Given the description of an element on the screen output the (x, y) to click on. 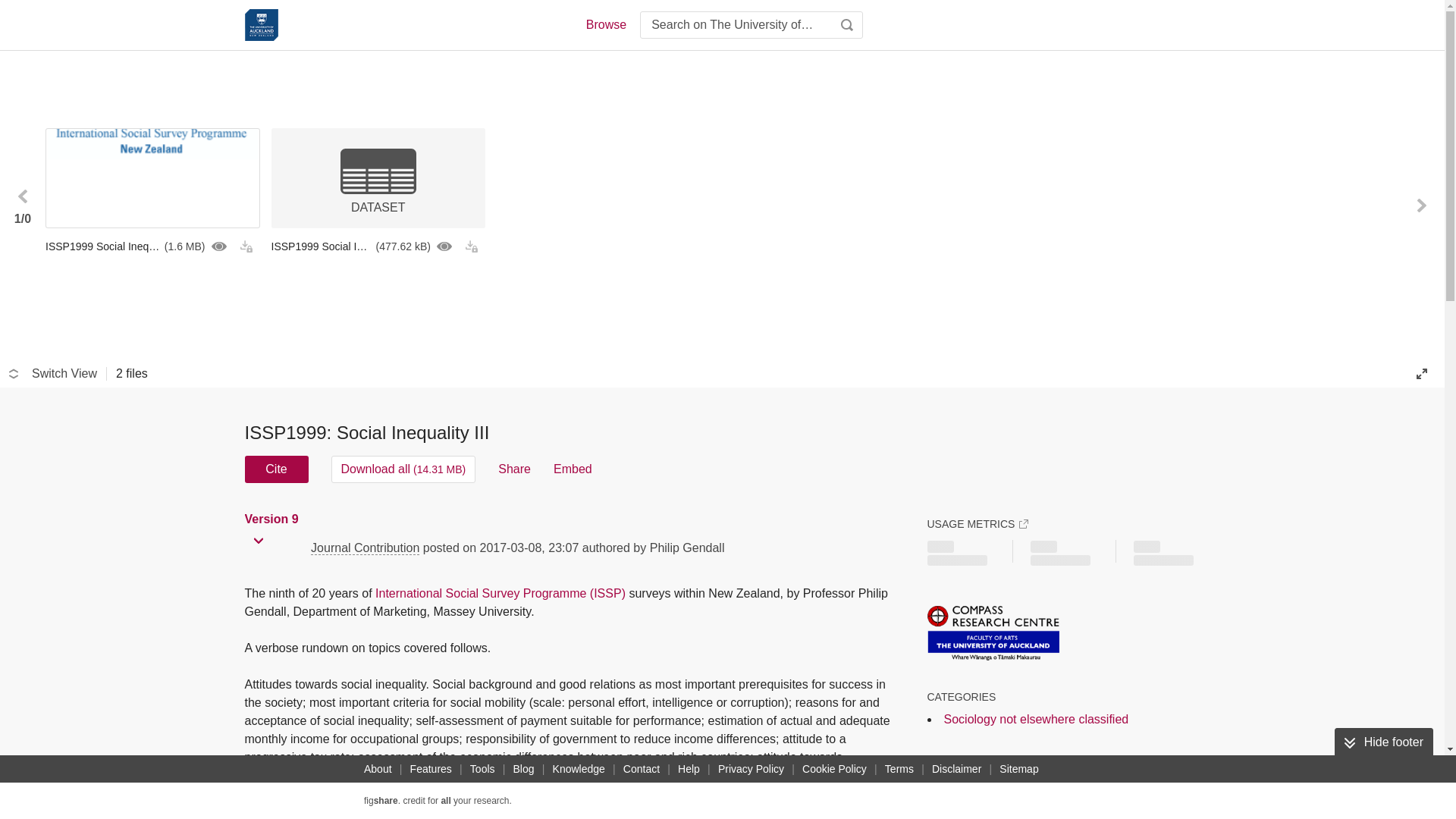
Survey research (980, 789)
Social Inequality (1098, 789)
Switch View (52, 373)
Cite (275, 469)
Version 9 (273, 519)
ISSP1999 Social Inequality III data set.sav (378, 246)
USAGE METRICS (976, 523)
Browse (605, 24)
Embed (572, 469)
Sociology not elsewhere classified (1035, 718)
